Given the description of an element on the screen output the (x, y) to click on. 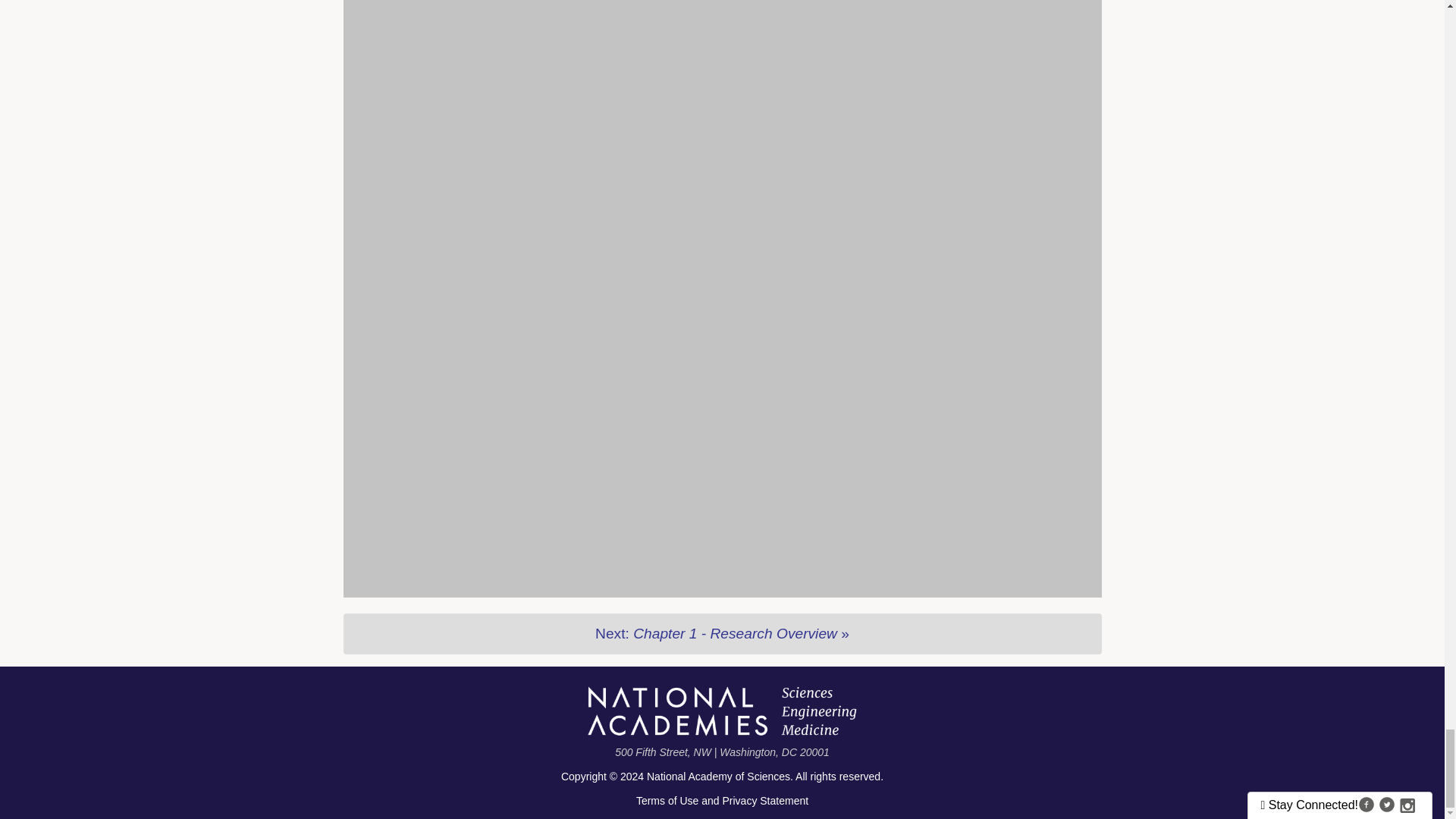
Next Chapter (721, 633)
